Given the description of an element on the screen output the (x, y) to click on. 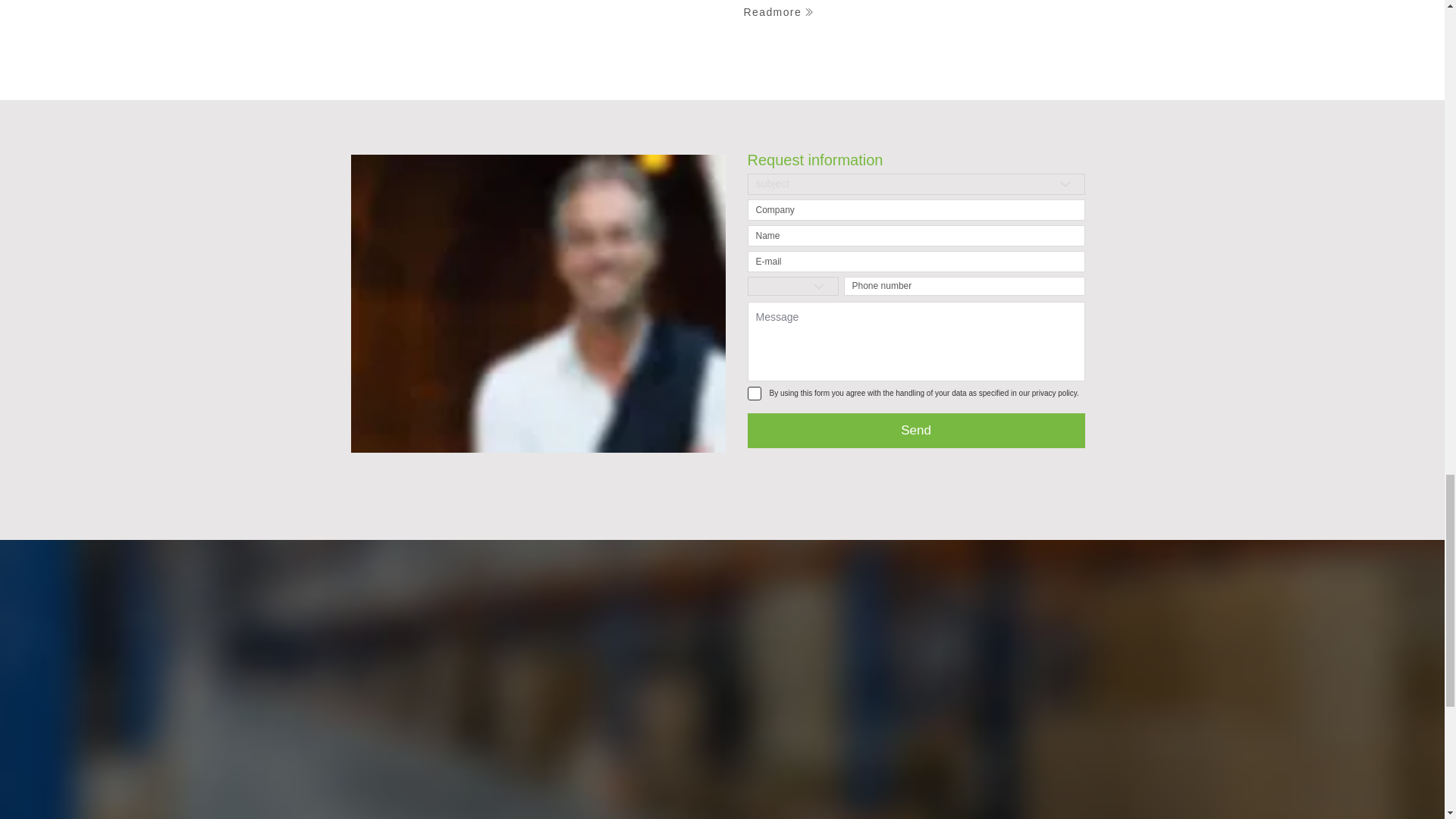
Send (916, 430)
Readmore (807, 13)
